Given the description of an element on the screen output the (x, y) to click on. 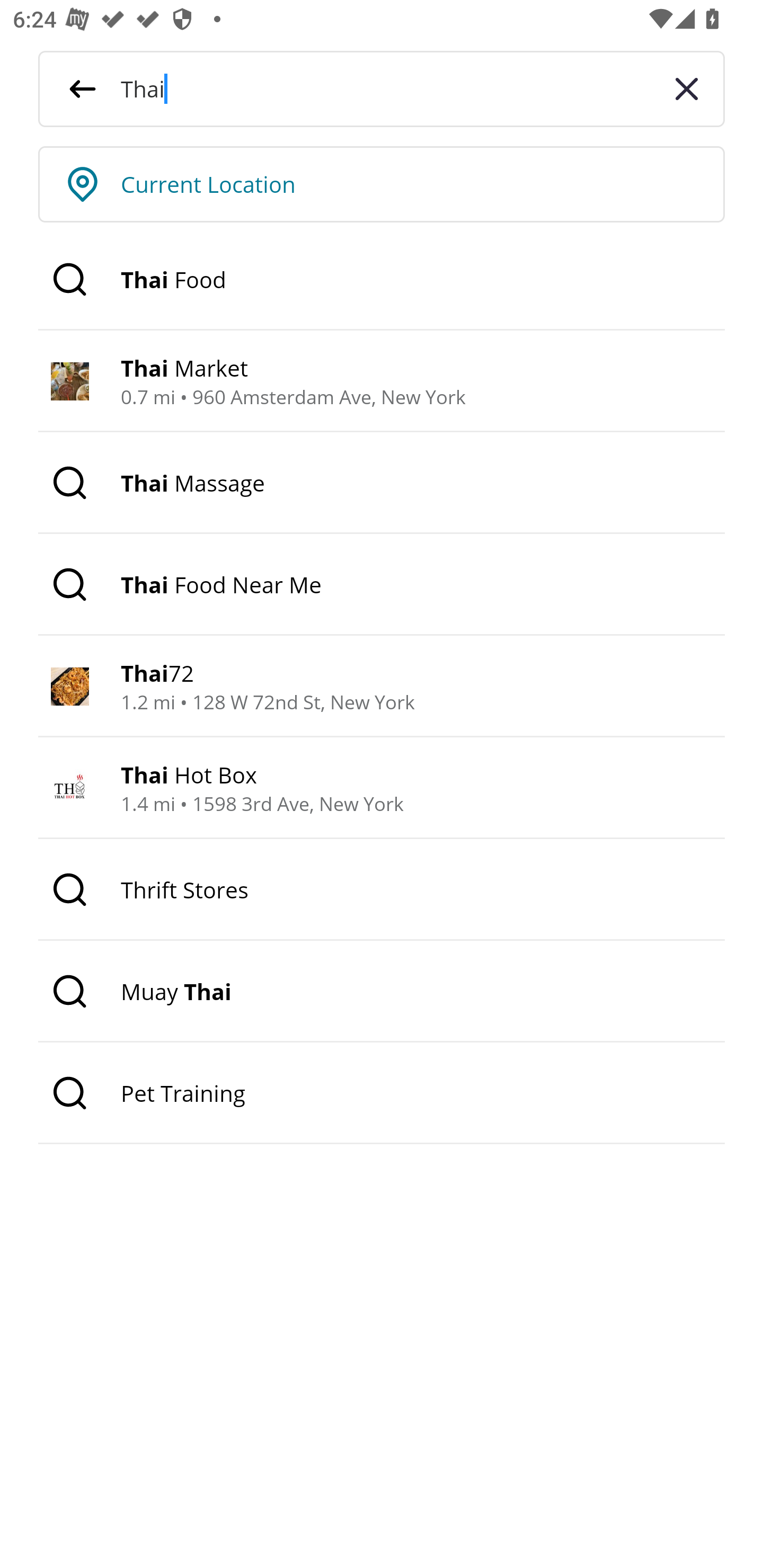
Thai Food (381, 279)
